Given the description of an element on the screen output the (x, y) to click on. 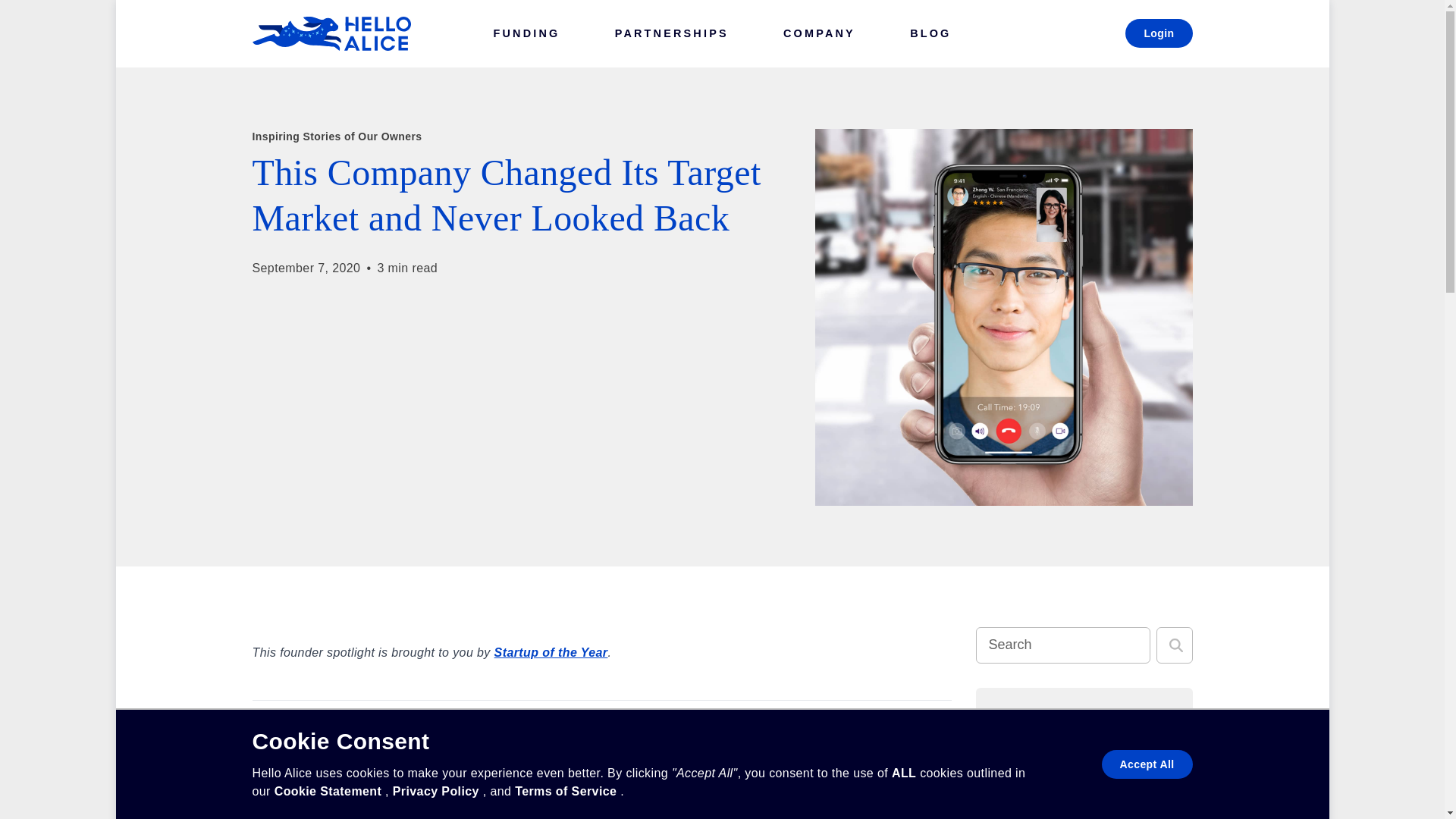
COMPANY (819, 33)
Startup of the Year (551, 652)
Jeenie (271, 768)
BLOG (930, 33)
FUNDING (526, 33)
Return to homepage (330, 33)
Login (1158, 32)
PARTNERSHIPS (671, 33)
